Given the description of an element on the screen output the (x, y) to click on. 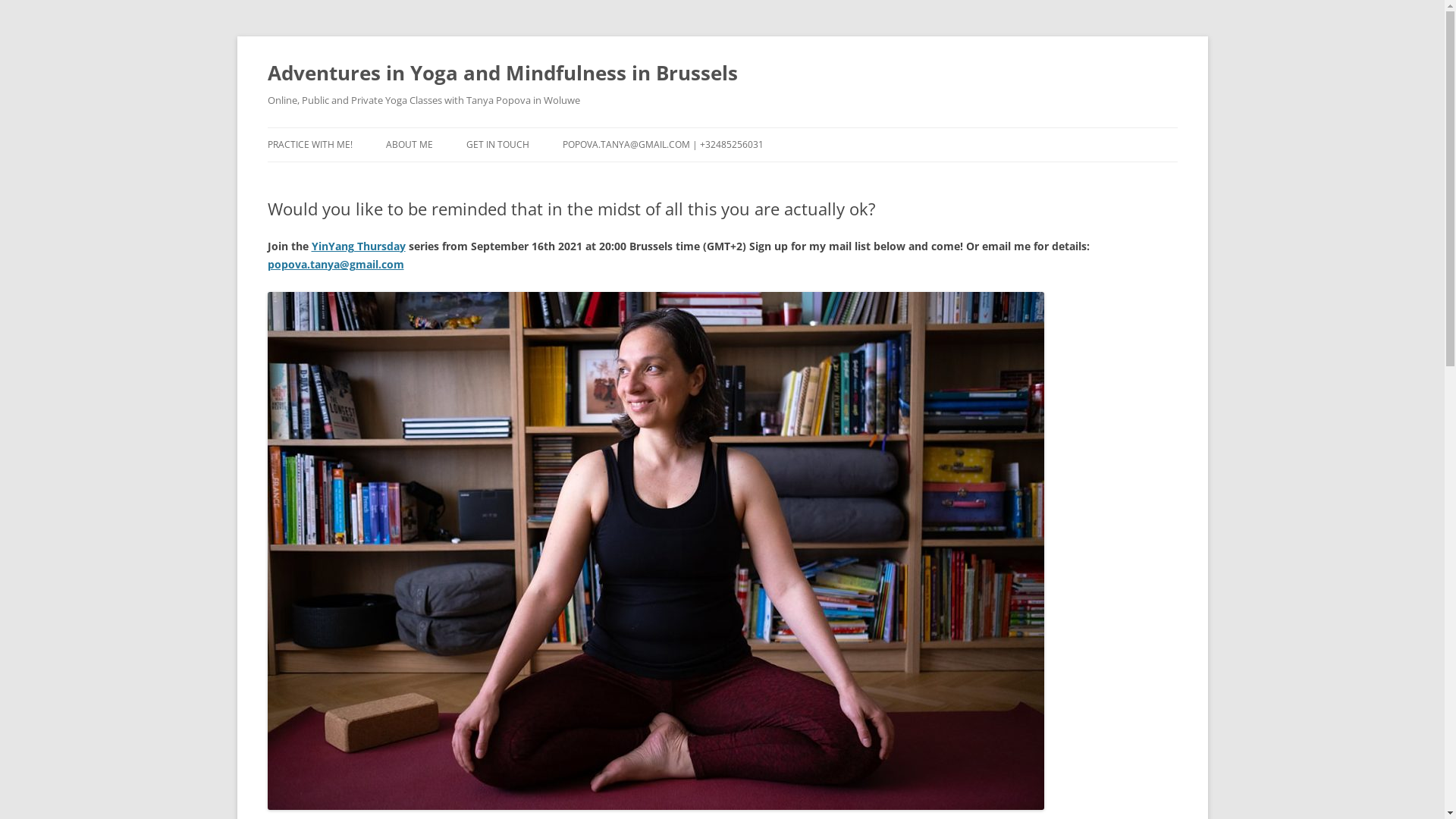
Skip to content Element type: text (721, 127)
popova.tanya@gmail.com Element type: text (334, 264)
PRACTICE WITH ME! Element type: text (308, 144)
POPOVA.TANYA@GMAIL.COM | +32485256031 Element type: text (662, 144)
YINYANG THURSDAYS (NEW) Element type: text (342, 176)
YinYang Thursday Element type: text (357, 245)
ABOUT ME Element type: text (408, 144)
GET IN TOUCH Element type: text (496, 144)
Adventures in Yoga and Mindfulness in Brussels Element type: text (501, 72)
TEACHERS, FRIENDS AND INSPIRATION Element type: text (460, 185)
